Given the description of an element on the screen output the (x, y) to click on. 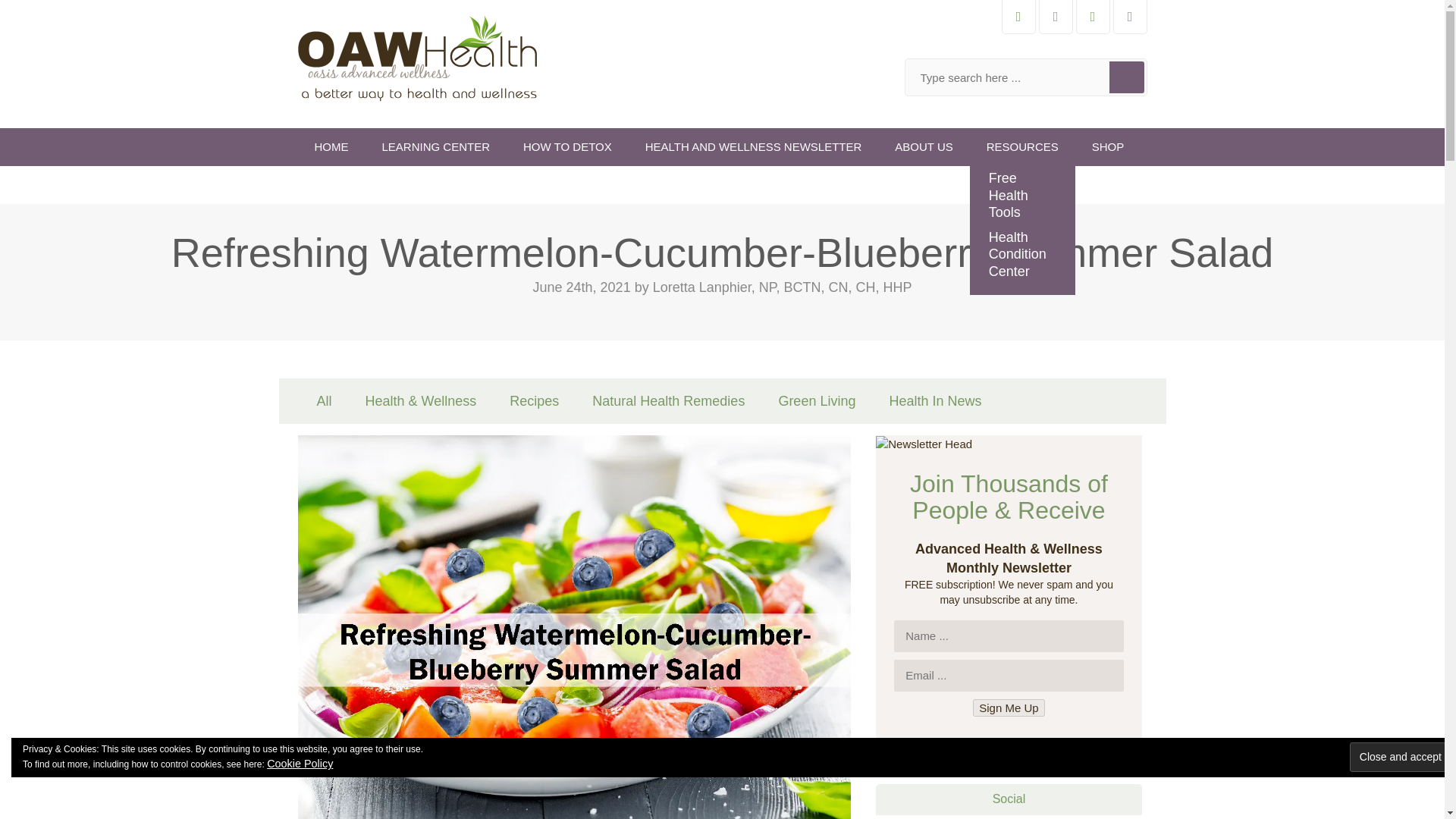
LEARNING CENTER (435, 146)
CONTACT US (350, 184)
Free Health Tools (1022, 195)
Recipes (534, 400)
SHOP (1108, 146)
RESOURCES (1022, 146)
HOW TO DETOX (567, 146)
ABOUT US (923, 146)
HOME (331, 146)
Sign Me Up (1007, 707)
